Given the description of an element on the screen output the (x, y) to click on. 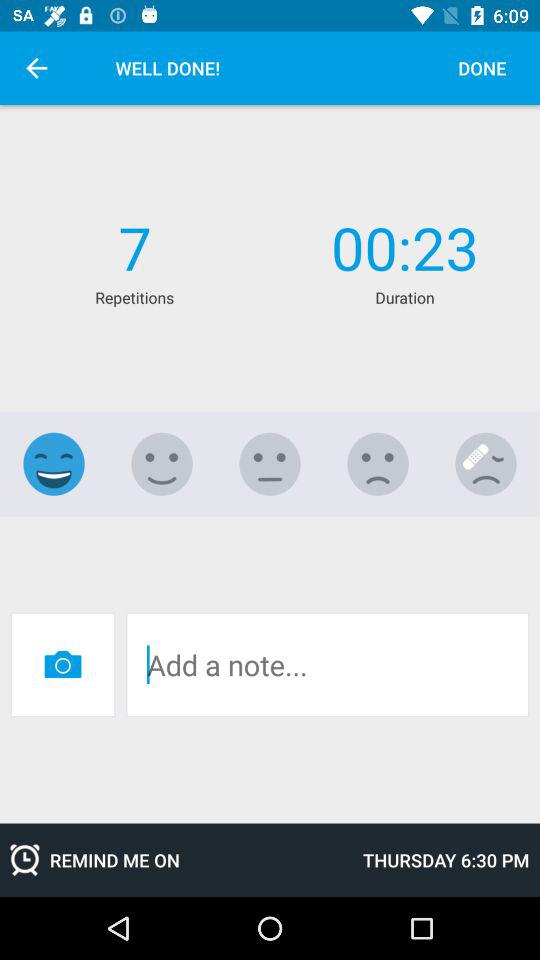
neutral emoji expression (270, 463)
